Given the description of an element on the screen output the (x, y) to click on. 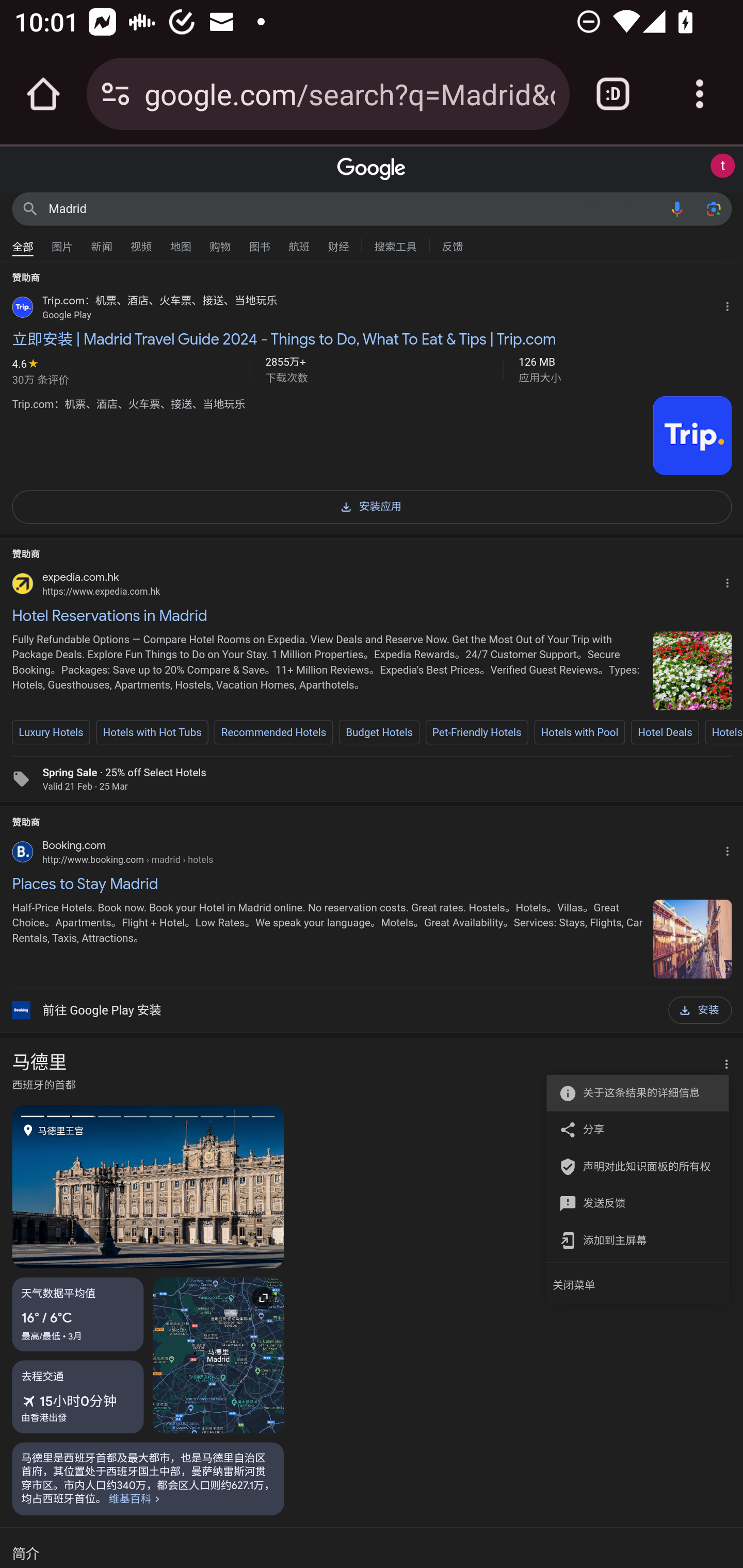
Open the home page (43, 93)
Connection is secure (115, 93)
Switch or close tabs (612, 93)
Customize and control Google Chrome (699, 93)
Google (371, 169)
Google 账号： test appium (testappium002@gmail.com) (722, 165)
Google 搜索 (29, 208)
使用拍照功能或照片进行搜索 (712, 208)
Madrid (353, 208)
图片 (62, 241)
新闻 (101, 241)
视频 (141, 241)
地图 (180, 241)
购物 (219, 241)
图书 (259, 241)
航班 (299, 241)
财经 (338, 241)
搜索工具 (395, 244)
反馈 (452, 244)
为什么会显示该广告？ (731, 303)
图片来自 google.com (691, 435)
安装应用 (371, 505)
为什么会显示该广告？ (731, 579)
Hotel Reservations in Madrid (371, 615)
图片来自 expedia.com.hk (691, 670)
Luxury Hotels (50, 731)
Hotels with Hot Tubs (151, 731)
Recommended Hotels (272, 731)
Budget Hotels (378, 731)
Pet-Friendly Hotels (476, 731)
Hotels with Pool (579, 731)
Hotel Deals (664, 731)
为什么会显示该广告？ (731, 848)
Places to Stay Madrid (371, 884)
图片来自 booking.com (691, 938)
安装 (699, 1009)
更多选项 (720, 1064)
关于这条结果的详细信息 (631, 1092)
上一张图片 (79, 1185)
下一张图片 (215, 1185)
分享 (631, 1128)
声明对此知识面板的所有权 (631, 1166)
发送反馈 (631, 1202)
添加到主屏幕 (631, 1240)
关闭菜单 (637, 1284)
天气数据平均值 16° / 6°C 最高/最低 • 3月 (77, 1313)
展开地图 (217, 1354)
去程交通 15小时 乘坐飞机 由香港出發 (77, 1396)
%E9%A9%AC%E5%BE%B7%E9%87%8C (147, 1478)
